Given the description of an element on the screen output the (x, y) to click on. 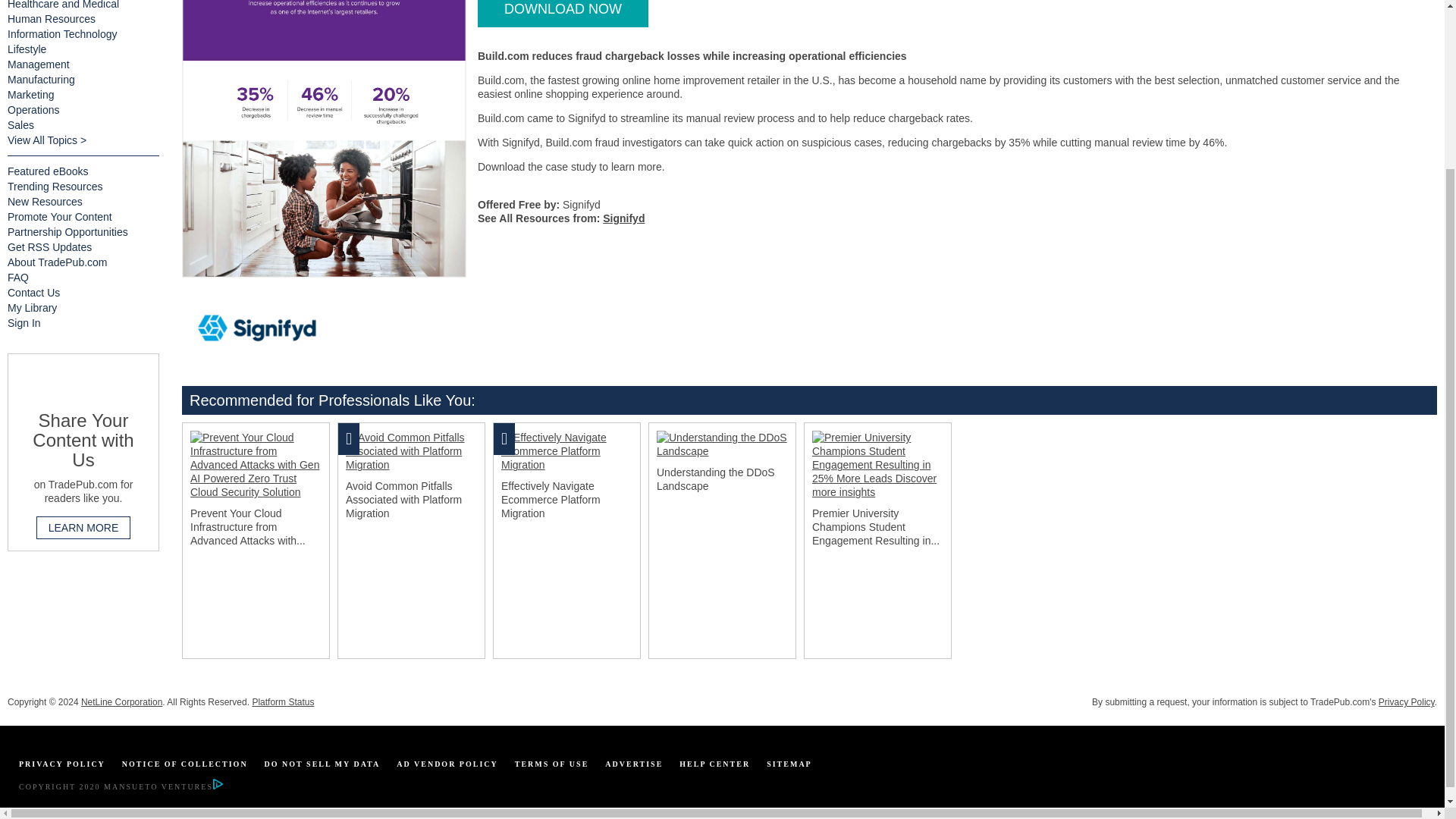
Get more information about do not sell my data on Inc.com (322, 764)
Get more information about Privacy policy on Inc.com (61, 764)
Get more information about help Center on Inc.com (714, 764)
Get more information about Ad vendor policy on Inc.com (446, 764)
Get more information about Notice of collection on Inc.com (184, 764)
Get more information about terms of use on Inc.com (552, 764)
Get more information about sitemap on Inc.com (789, 764)
Get more information about Advertise on Inc.com (633, 764)
Read more about your Ad Choices (217, 786)
